Given the description of an element on the screen output the (x, y) to click on. 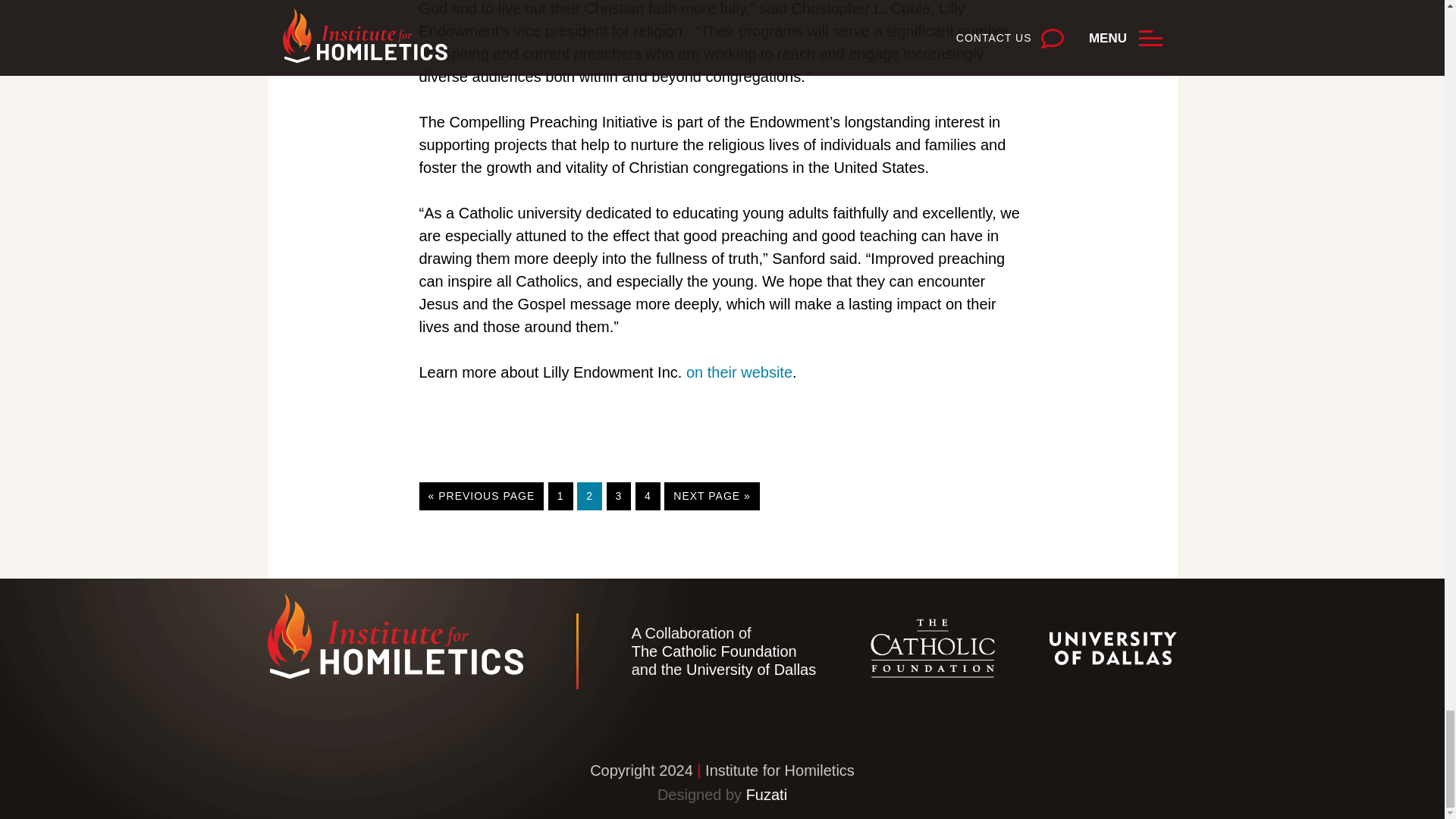
on their website (738, 371)
University of Dallas (589, 496)
The Catholic Foundation (560, 496)
